Given the description of an element on the screen output the (x, y) to click on. 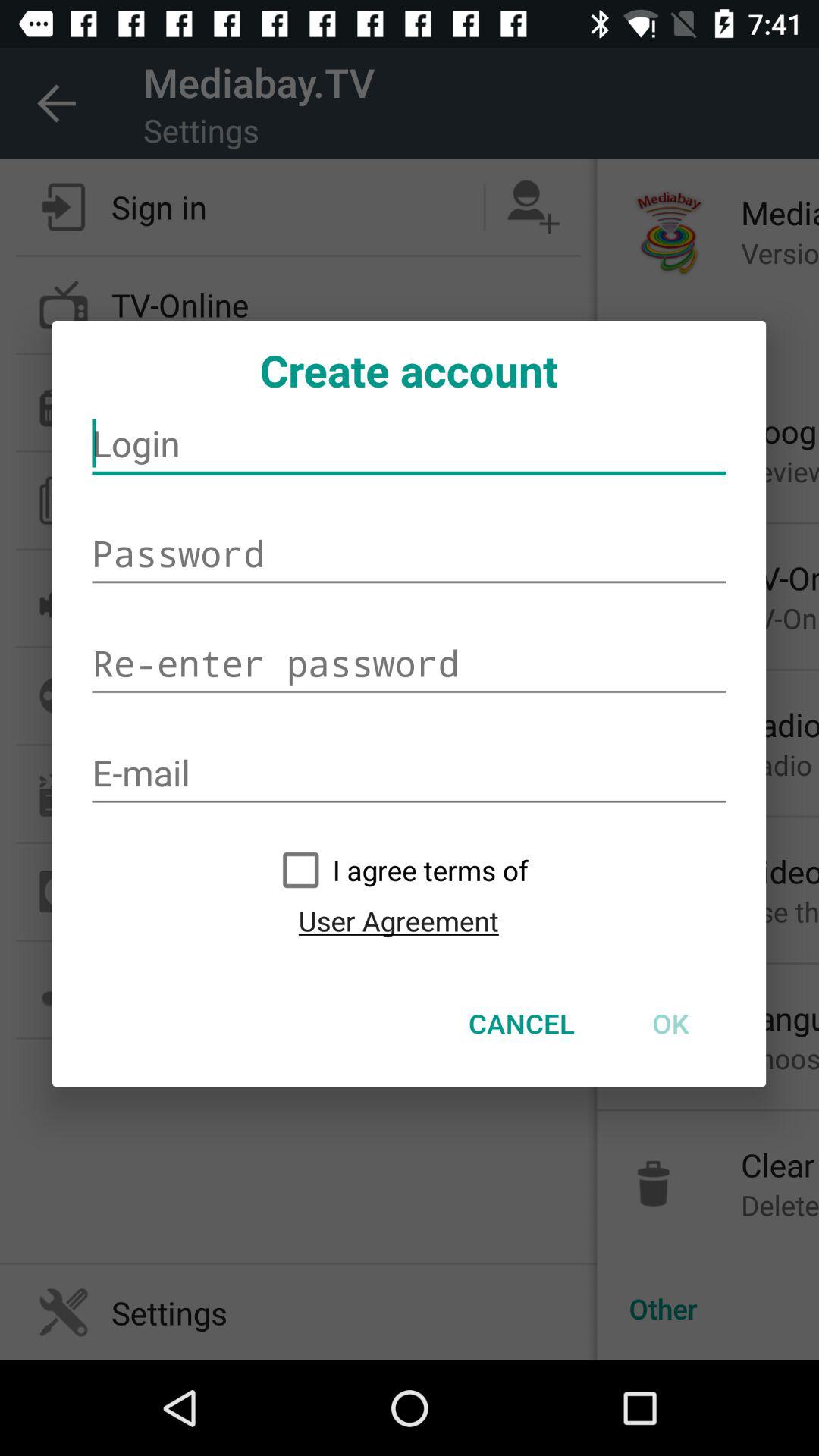
choose icon next to the ok icon (521, 1022)
